Given the description of an element on the screen output the (x, y) to click on. 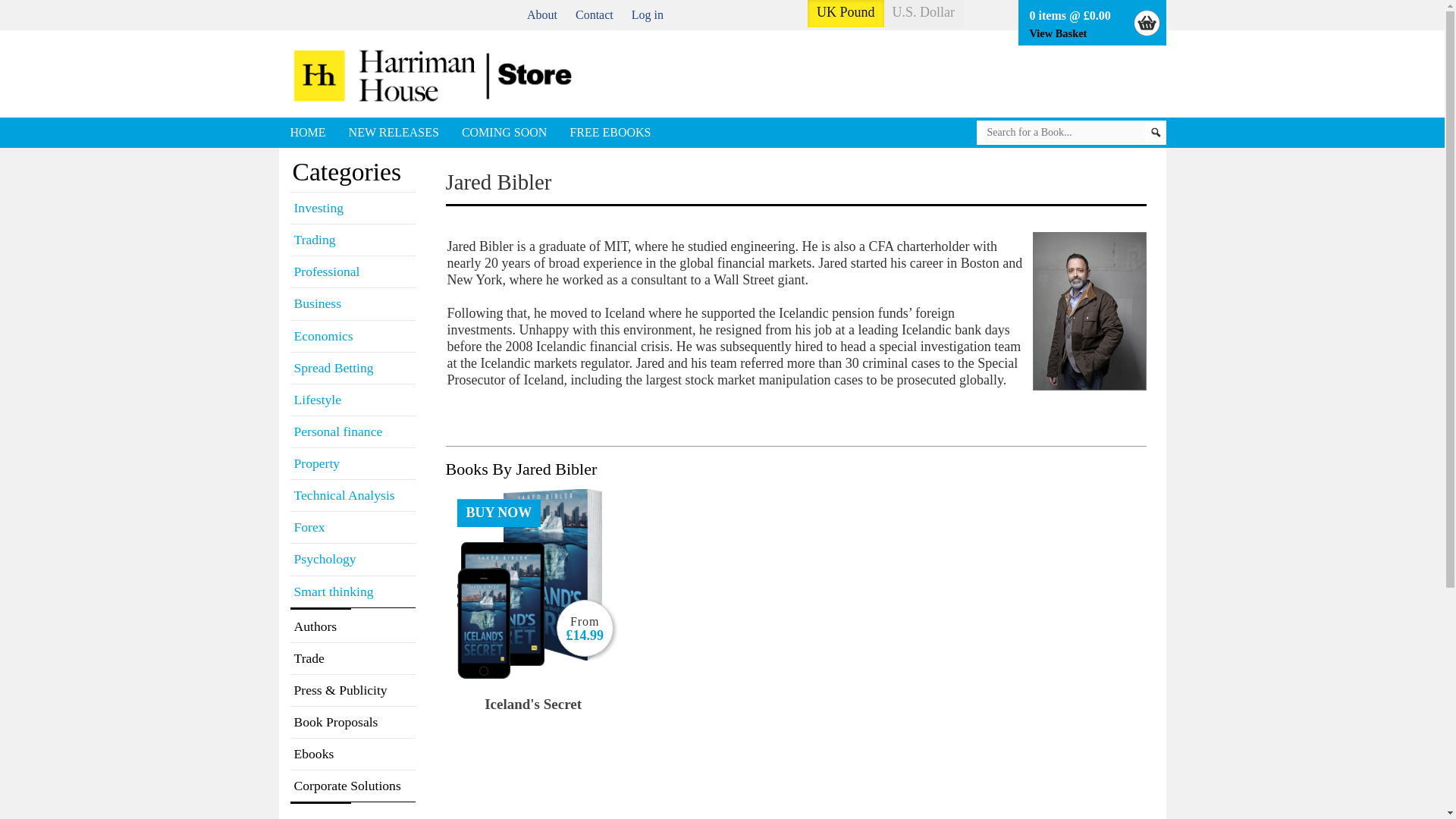
Contact (593, 14)
Business (351, 303)
COMING SOON (503, 132)
Investing (351, 207)
About (542, 14)
View Basket (1058, 33)
Trading (351, 239)
NEW RELEASES (393, 132)
FREE EBOOKS (609, 132)
Professional (351, 271)
HOME (308, 132)
Log in (647, 14)
